Given the description of an element on the screen output the (x, y) to click on. 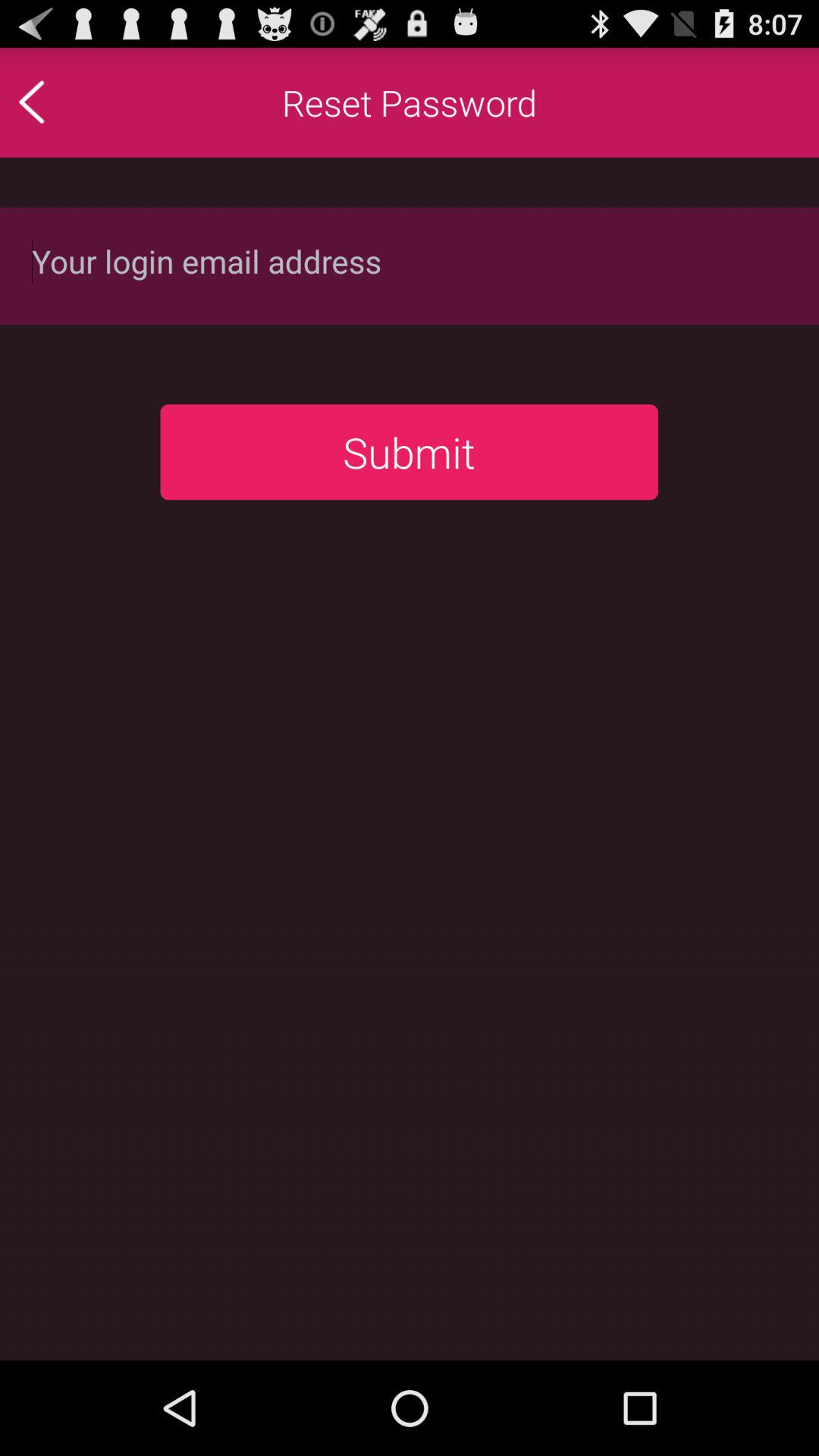
go to previous page (63, 102)
